Given the description of an element on the screen output the (x, y) to click on. 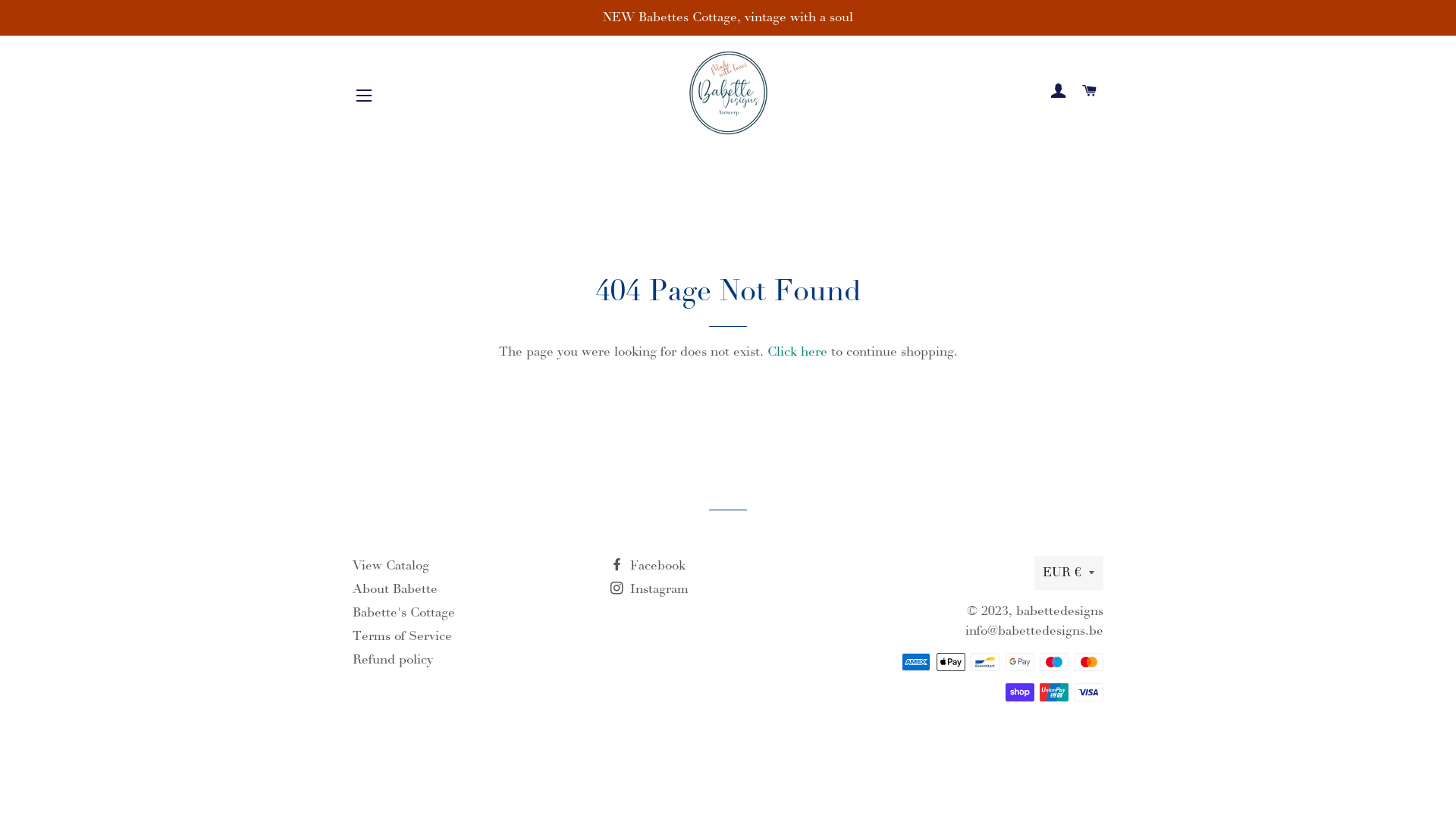
Babette's Cottage Element type: text (403, 612)
Facebook Element type: text (647, 565)
SITE NAVIGATION Element type: text (363, 95)
Instagram Element type: text (649, 588)
babettedesigns Element type: text (1059, 610)
View Catalog Element type: text (390, 565)
info@babettedesigns.be Element type: text (1034, 630)
About Babette Element type: text (394, 588)
Terms of Service Element type: text (401, 635)
Refund policy Element type: text (392, 659)
LOG IN Element type: text (1059, 91)
Click here Element type: text (797, 351)
CART Element type: text (1089, 91)
